Given the description of an element on the screen output the (x, y) to click on. 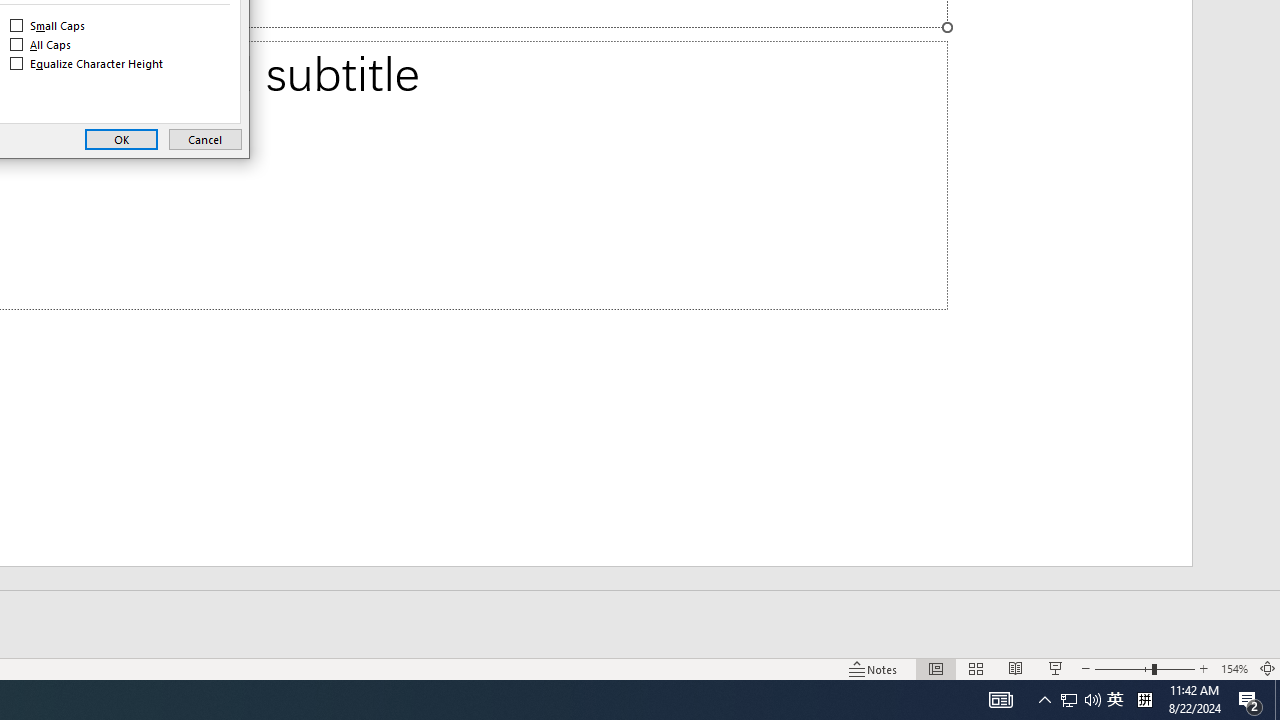
Equalize Character Height (87, 64)
OK (121, 139)
